Given the description of an element on the screen output the (x, y) to click on. 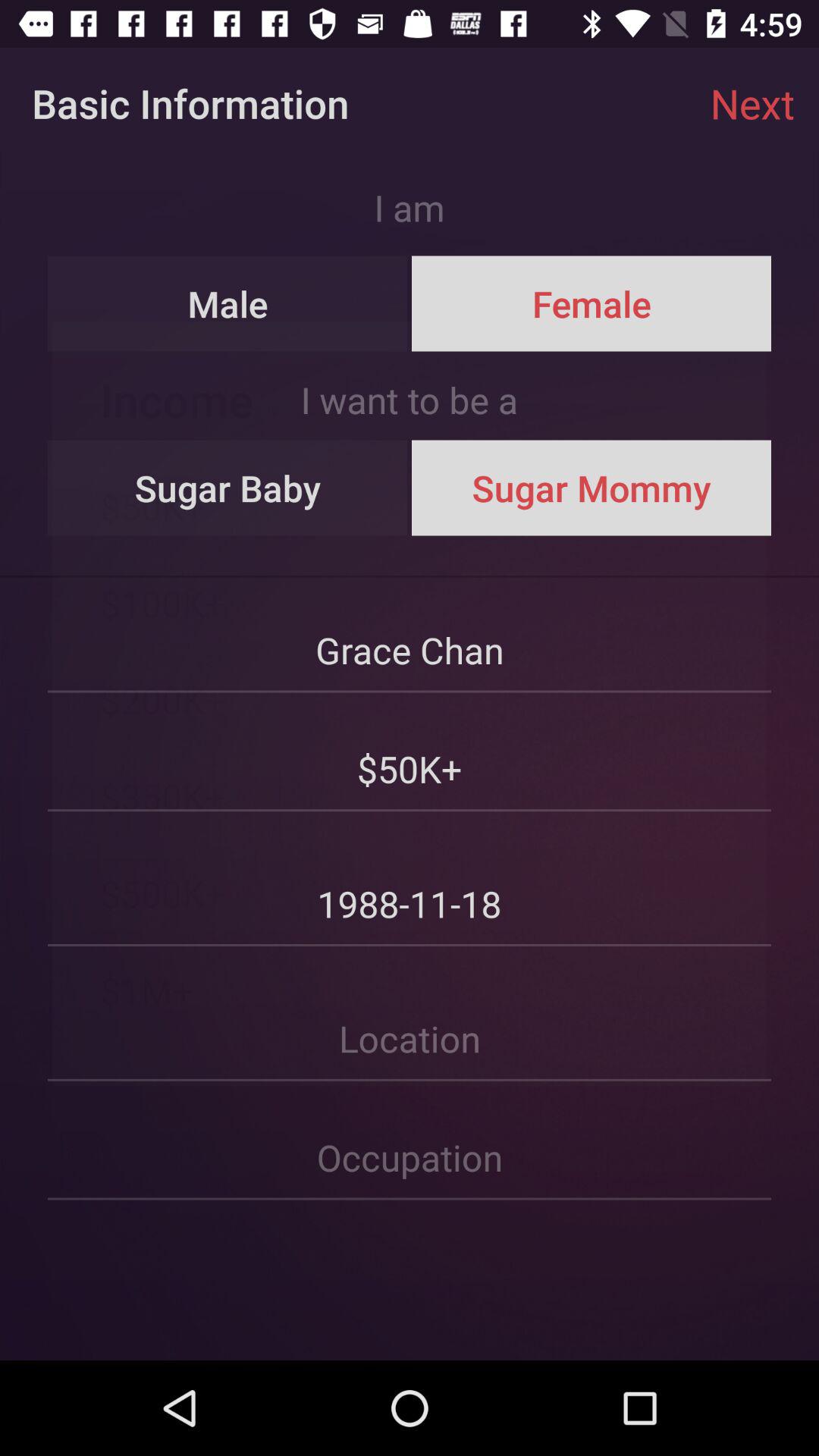
turn on the icon below i am item (227, 303)
